Given the description of an element on the screen output the (x, y) to click on. 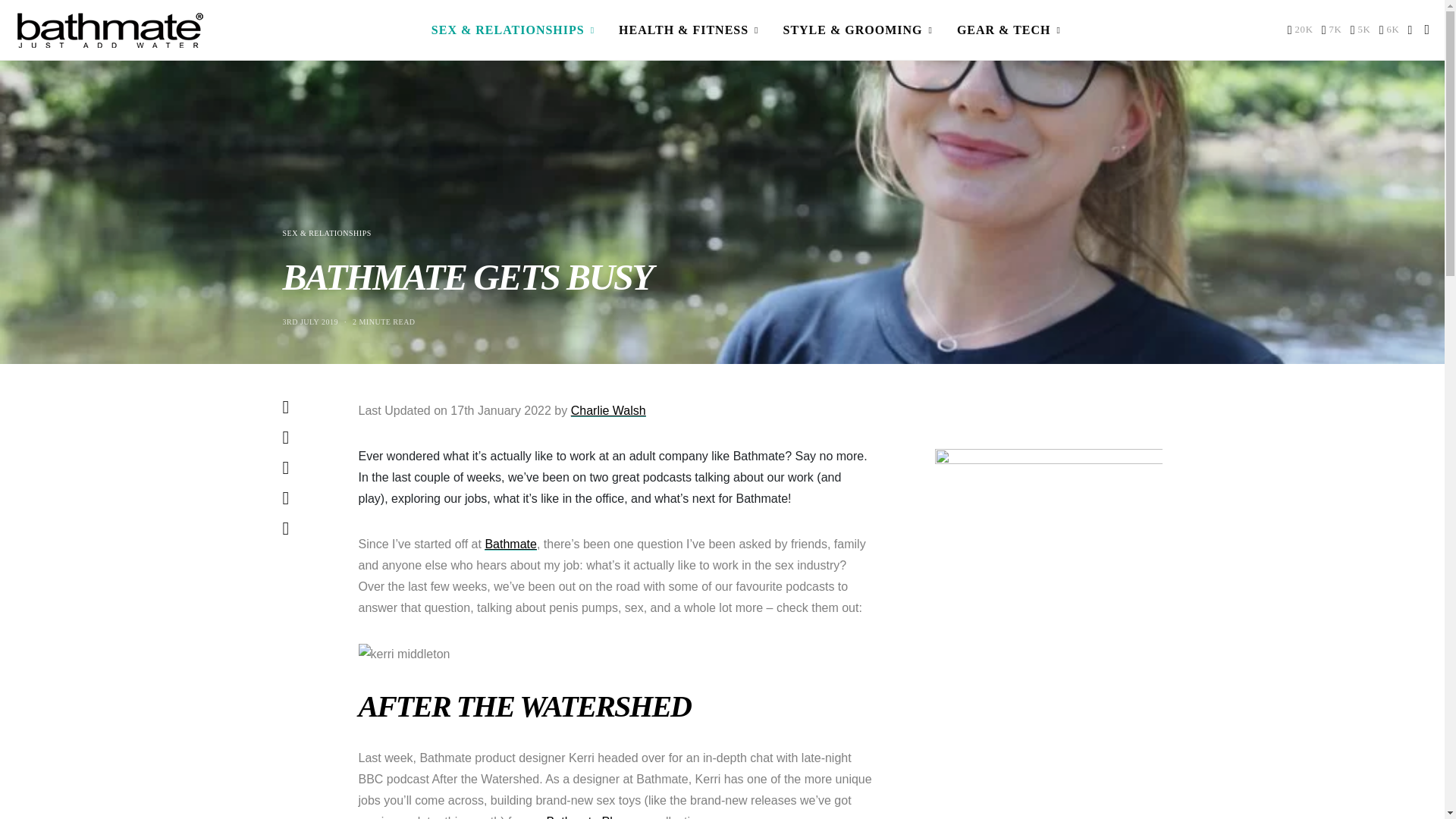
7K (1332, 30)
5K (1361, 30)
6K (1388, 30)
20K (1300, 30)
